Given the description of an element on the screen output the (x, y) to click on. 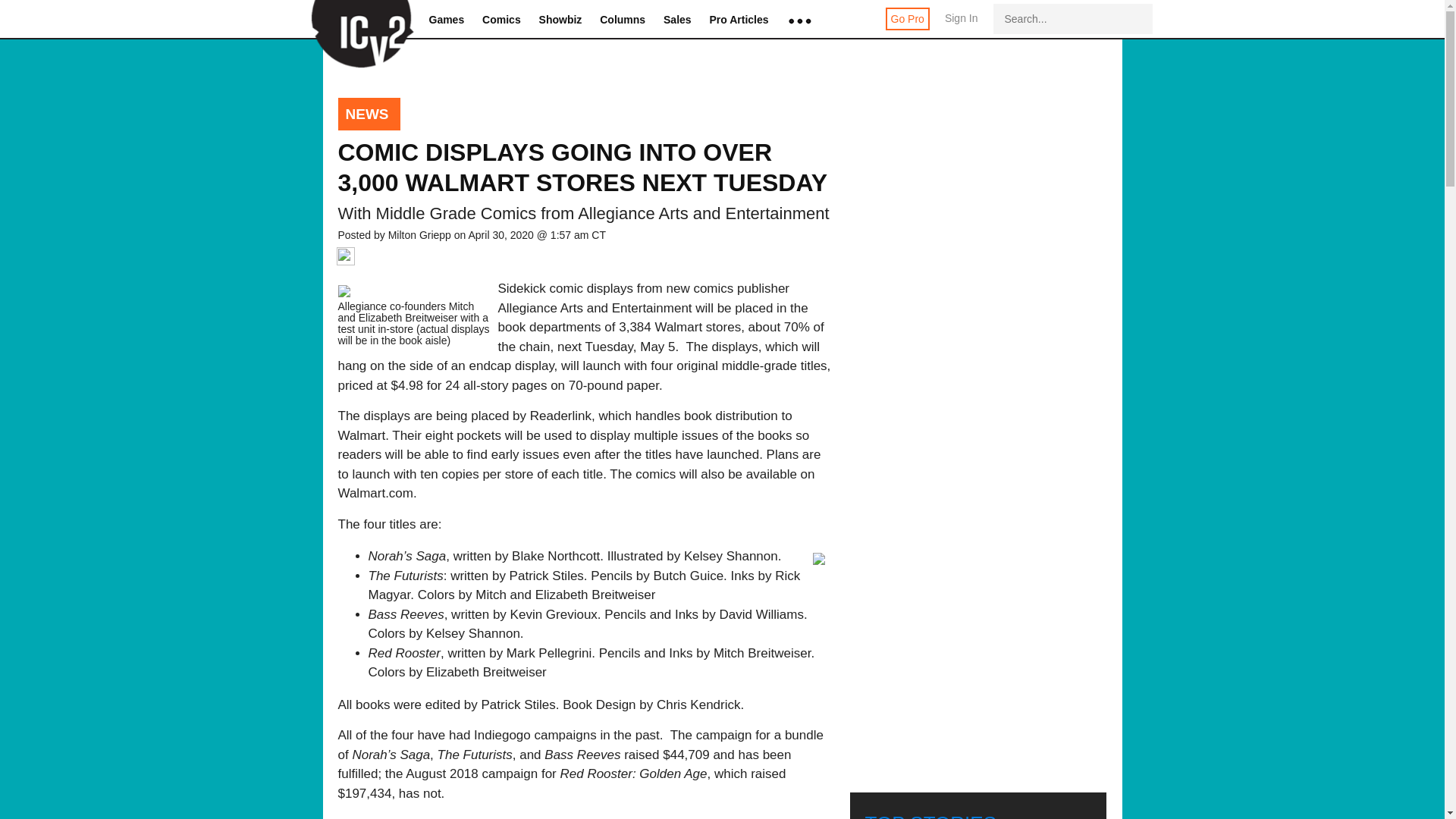
ICv2 (357, 19)
Columns (622, 20)
Sales (677, 20)
Games (446, 20)
Sign In (961, 25)
Go Pro (907, 18)
Pro Articles (739, 20)
Comics (501, 20)
Showbiz (560, 20)
